Given the description of an element on the screen output the (x, y) to click on. 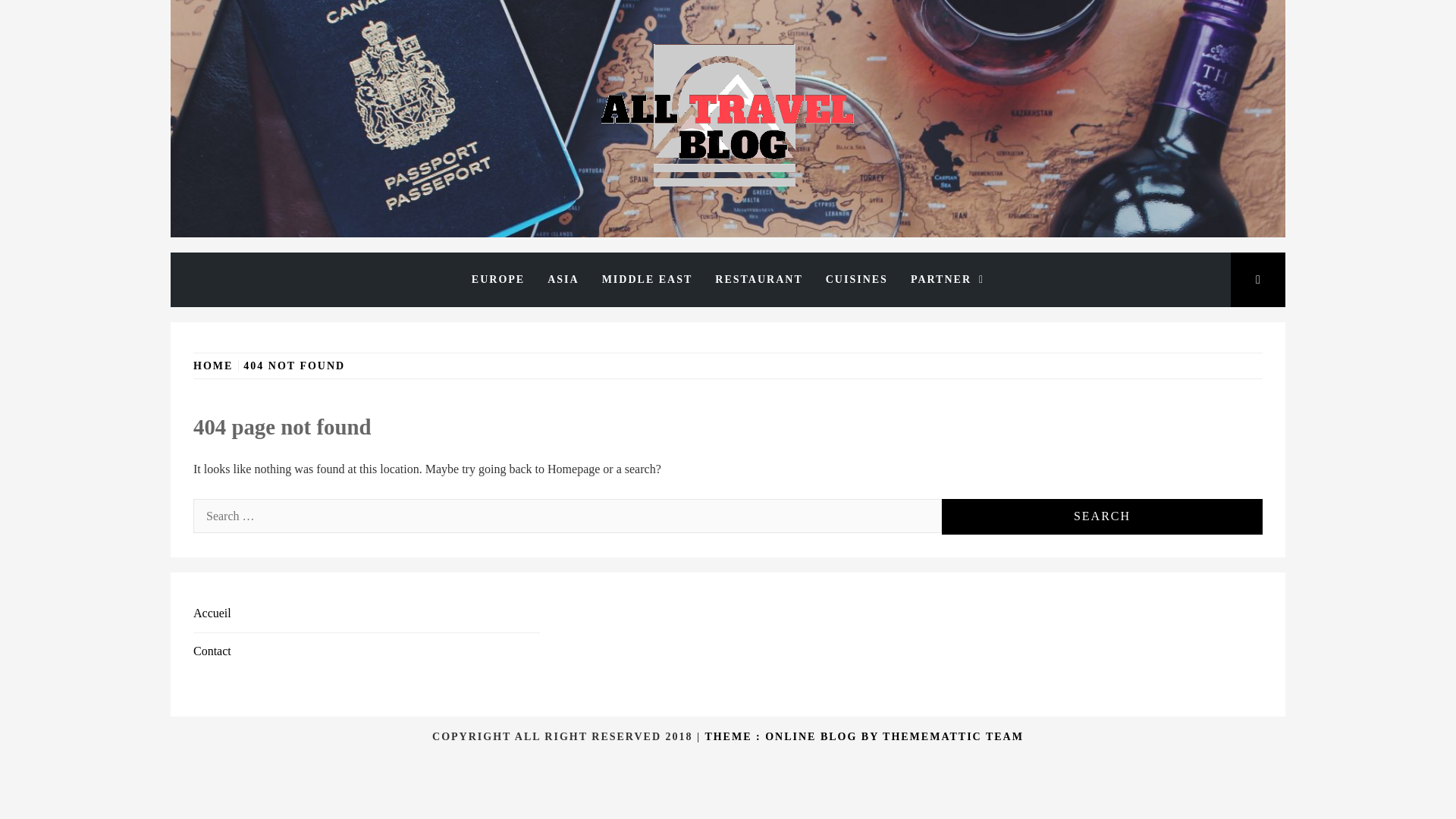
All travel blog (441, 249)
Accueil (212, 612)
Contact (212, 650)
RESTAURANT (758, 279)
Search (1102, 515)
THEME : ONLINE BLOG BY (793, 736)
Search (652, 37)
THEMEMATTIC TEAM (952, 736)
HOME (215, 365)
404 NOT FOUND (294, 365)
